Given the description of an element on the screen output the (x, y) to click on. 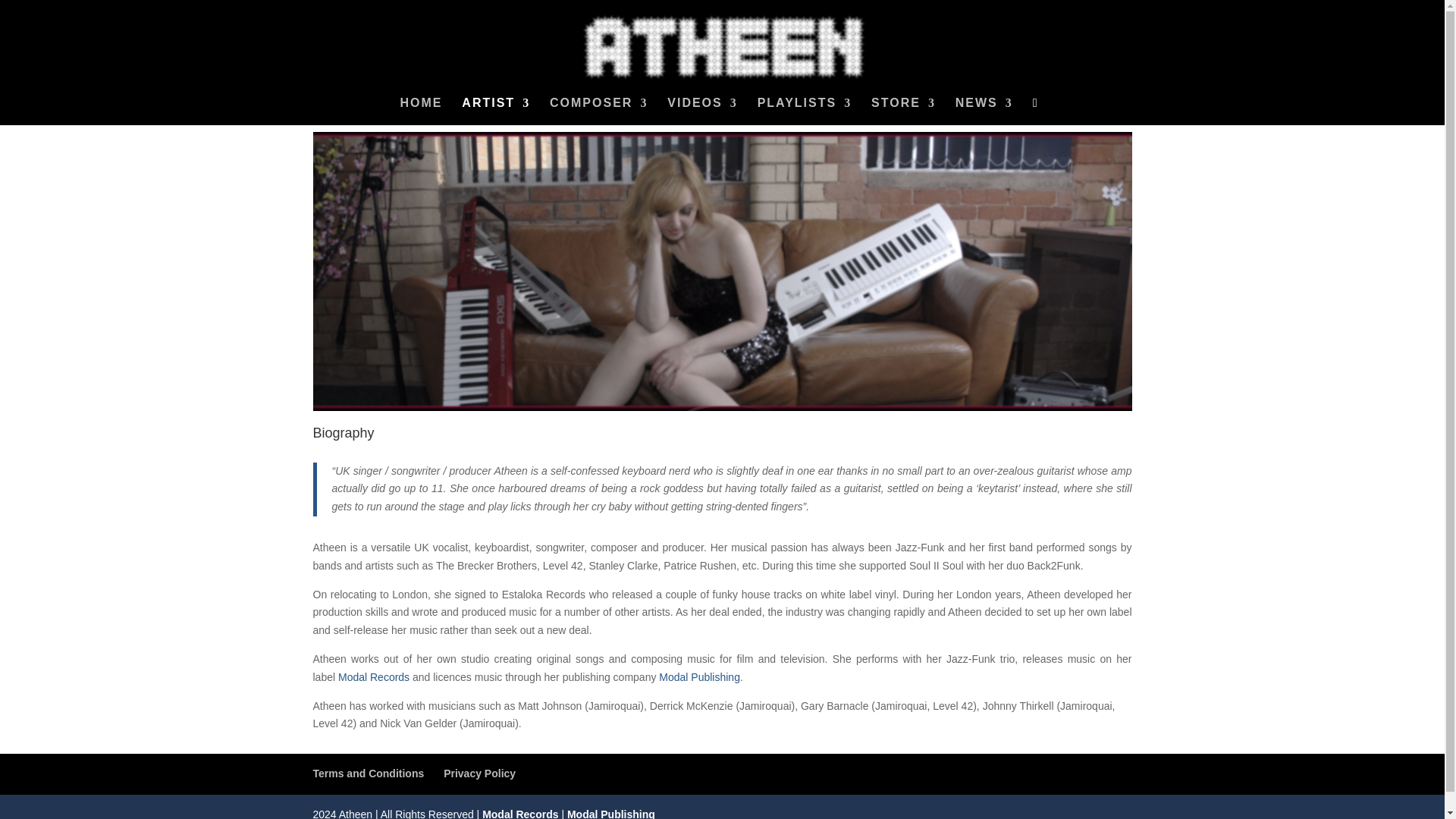
Terms and Conditions (368, 773)
STORE (903, 111)
Privacy Policy (479, 773)
Modal Records (519, 813)
PLAYLISTS (804, 111)
Modal Publishing (699, 676)
HOME (420, 111)
VIDEOS (701, 111)
Modal Records (373, 676)
NEWS (984, 111)
